Given the description of an element on the screen output the (x, y) to click on. 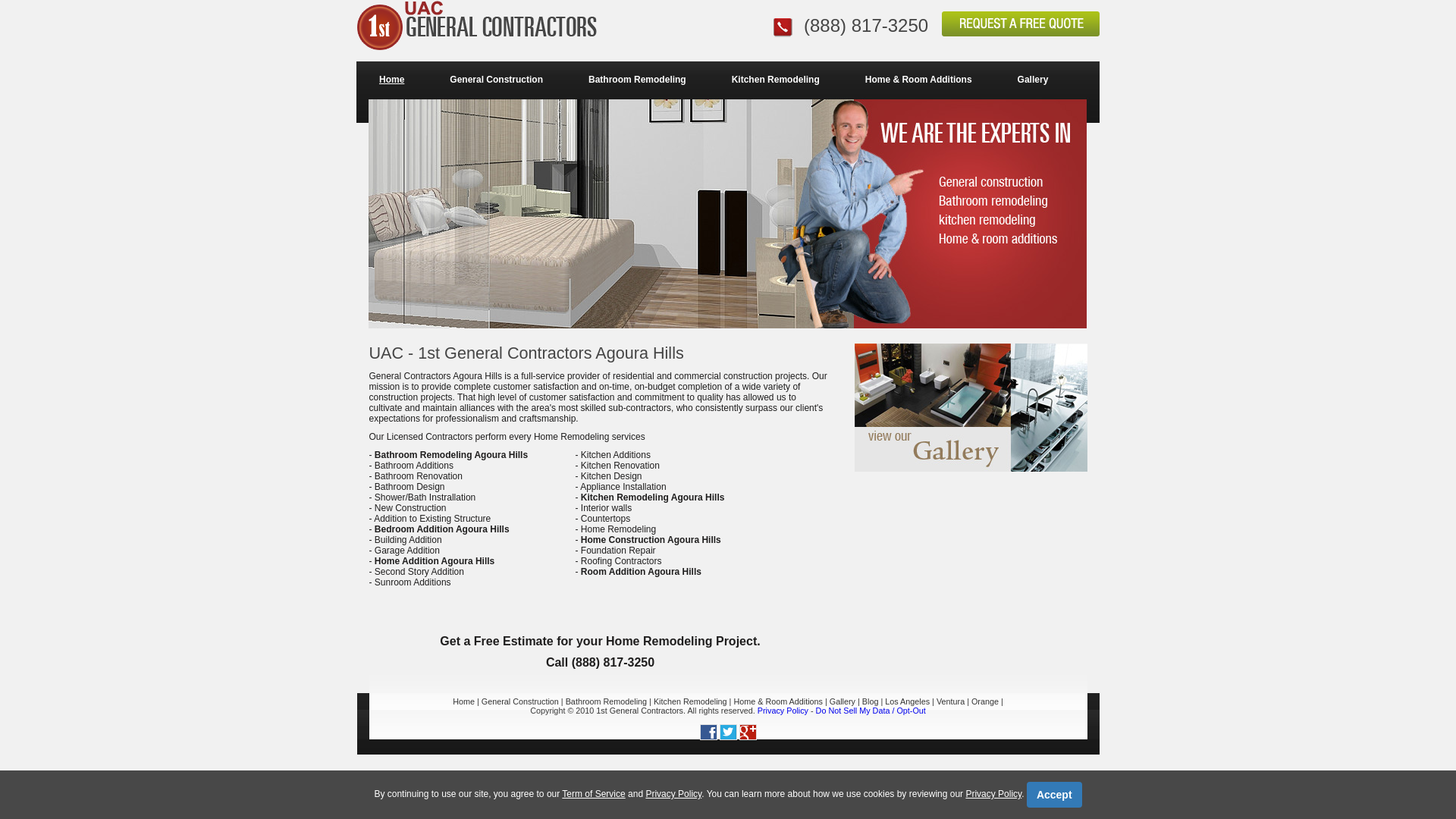
General Construction Element type: text (495, 79)
Ventura Element type: text (950, 701)
Home Element type: text (463, 701)
Orange Element type: text (984, 701)
Bathroom Remodeling Element type: text (637, 79)
Blog Element type: text (870, 701)
Los Angeles Element type: text (906, 701)
Do Not Sell My Data / Opt-Out Element type: text (870, 710)
Home & Room Additions Element type: text (777, 701)
Privacy Policy Element type: text (993, 793)
Bathroom Remodeling Element type: text (605, 701)
Home Element type: text (391, 79)
Kitchen Remodeling Element type: text (775, 79)
Home & Room Additions Element type: text (918, 79)
1st General Contractors Element type: text (639, 710)
Gallery Element type: text (842, 701)
Gallery Element type: text (1032, 79)
General Construction Element type: text (519, 701)
Privacy Policy Element type: text (673, 793)
Kitchen Remodeling Element type: text (690, 701)
Privacy Policy Element type: text (782, 710)
Term of Service Element type: text (592, 793)
Accept Element type: text (1054, 794)
